Given the description of an element on the screen output the (x, y) to click on. 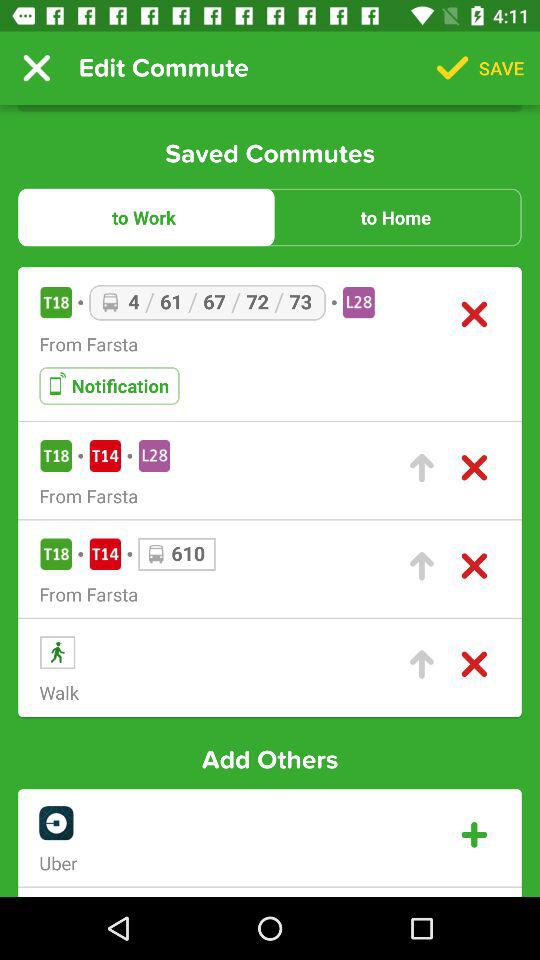
open the icon above saved commutes icon (36, 68)
